Given the description of an element on the screen output the (x, y) to click on. 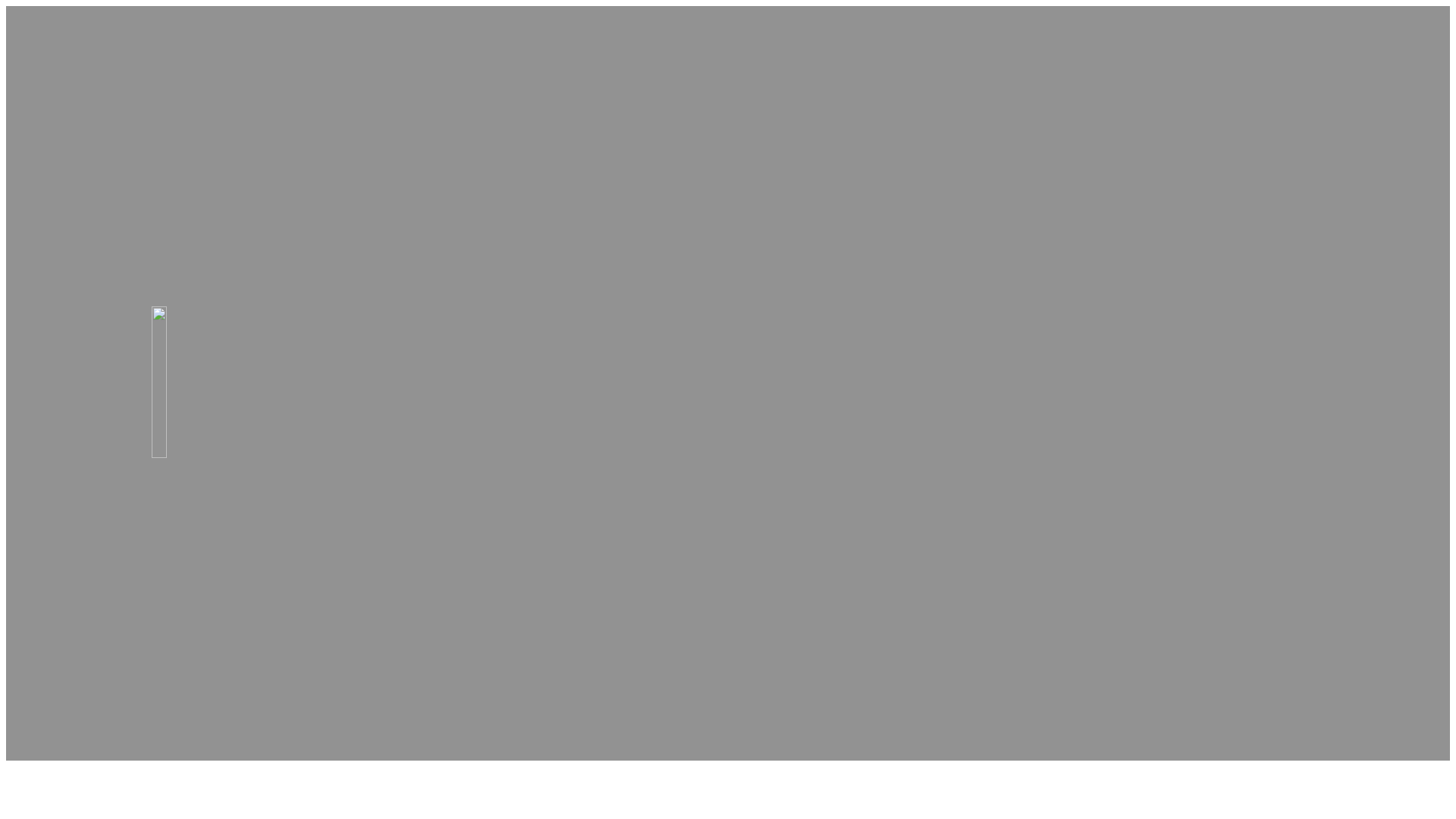
Skip to main content Element type: text (5, 5)
